Given the description of an element on the screen output the (x, y) to click on. 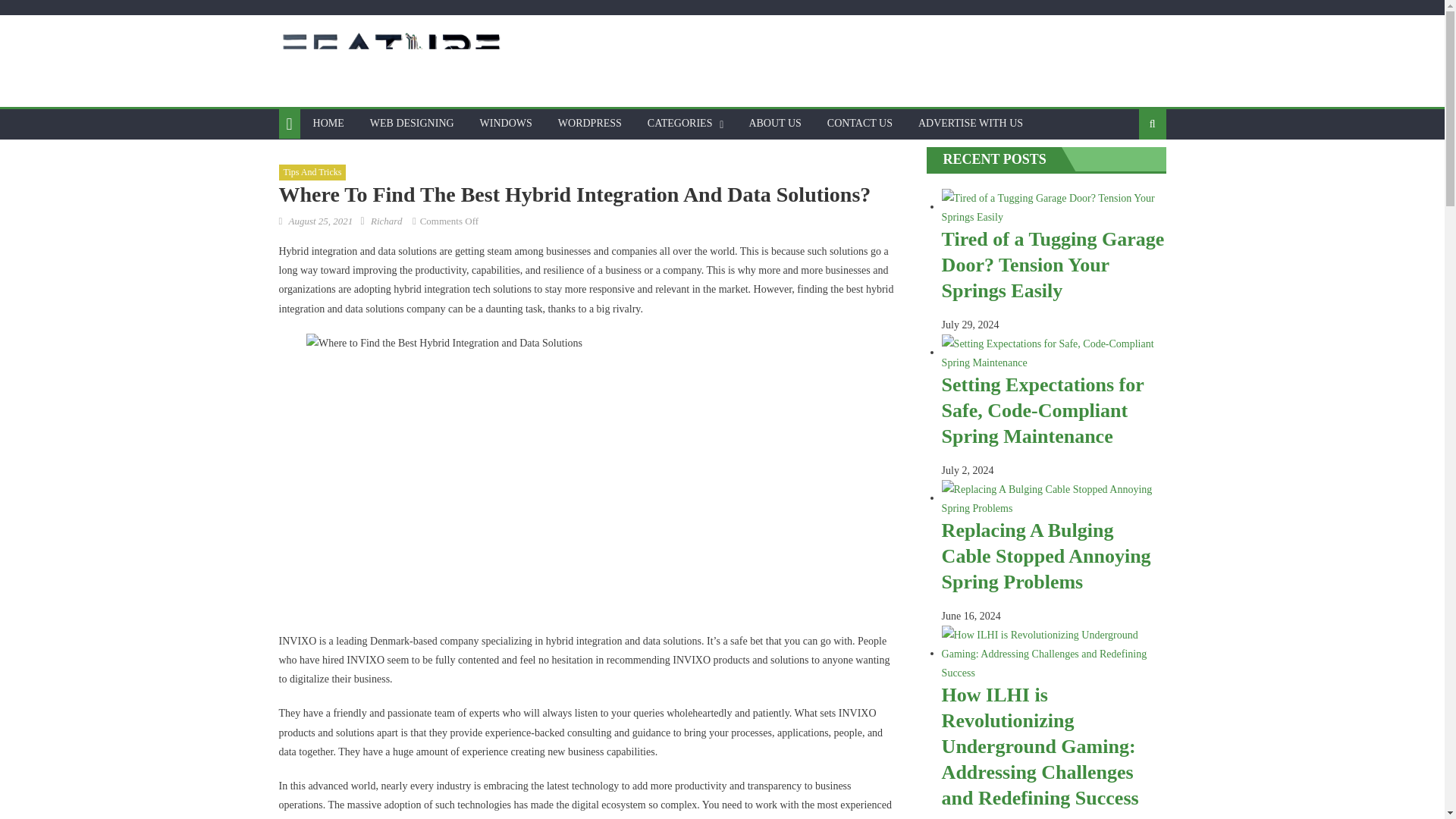
CATEGORIES (679, 123)
WINDOWS (505, 123)
WORDPRESS (590, 123)
WEB DESIGNING (411, 123)
HOME (328, 123)
